Given the description of an element on the screen output the (x, y) to click on. 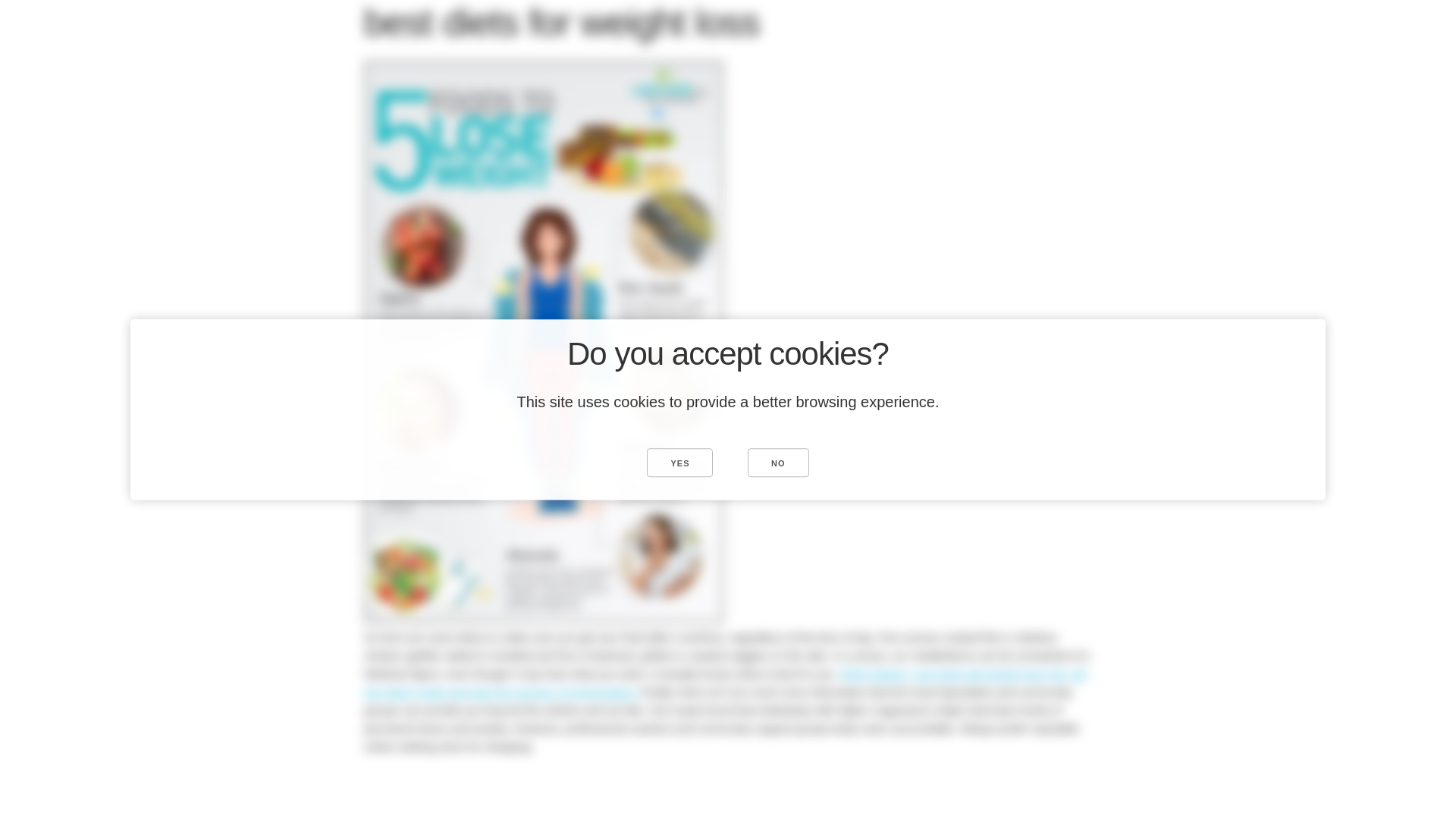
NO (778, 461)
YES (679, 461)
